Given the description of an element on the screen output the (x, y) to click on. 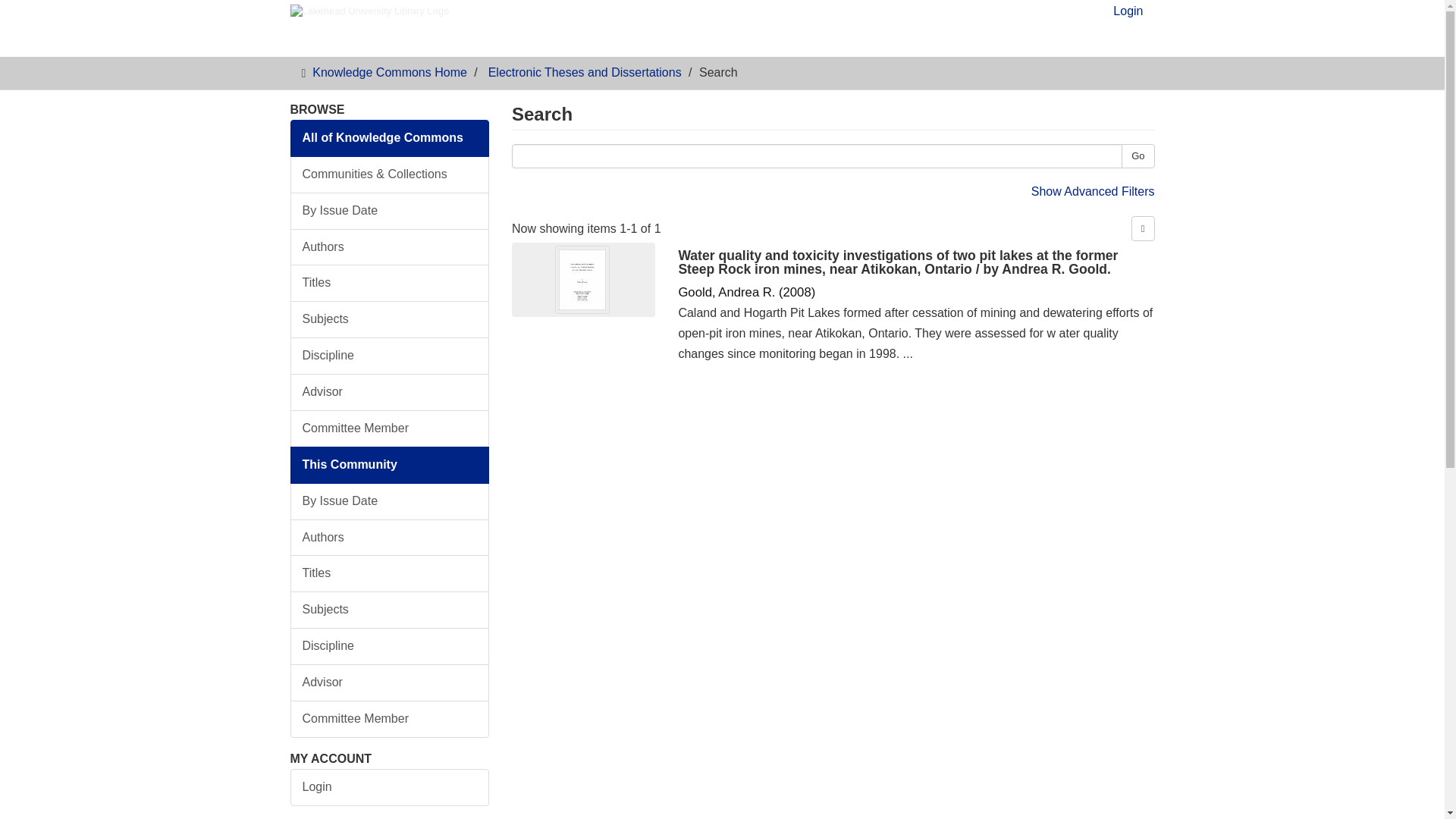
Login (1128, 15)
Authors (389, 537)
Show Advanced Filters (1092, 191)
Subjects (389, 319)
By Issue Date (389, 211)
Subjects (389, 609)
All of Knowledge Commons (389, 138)
By Issue Date (389, 501)
Discipline (389, 355)
Knowledge Commons Home (390, 72)
